Given the description of an element on the screen output the (x, y) to click on. 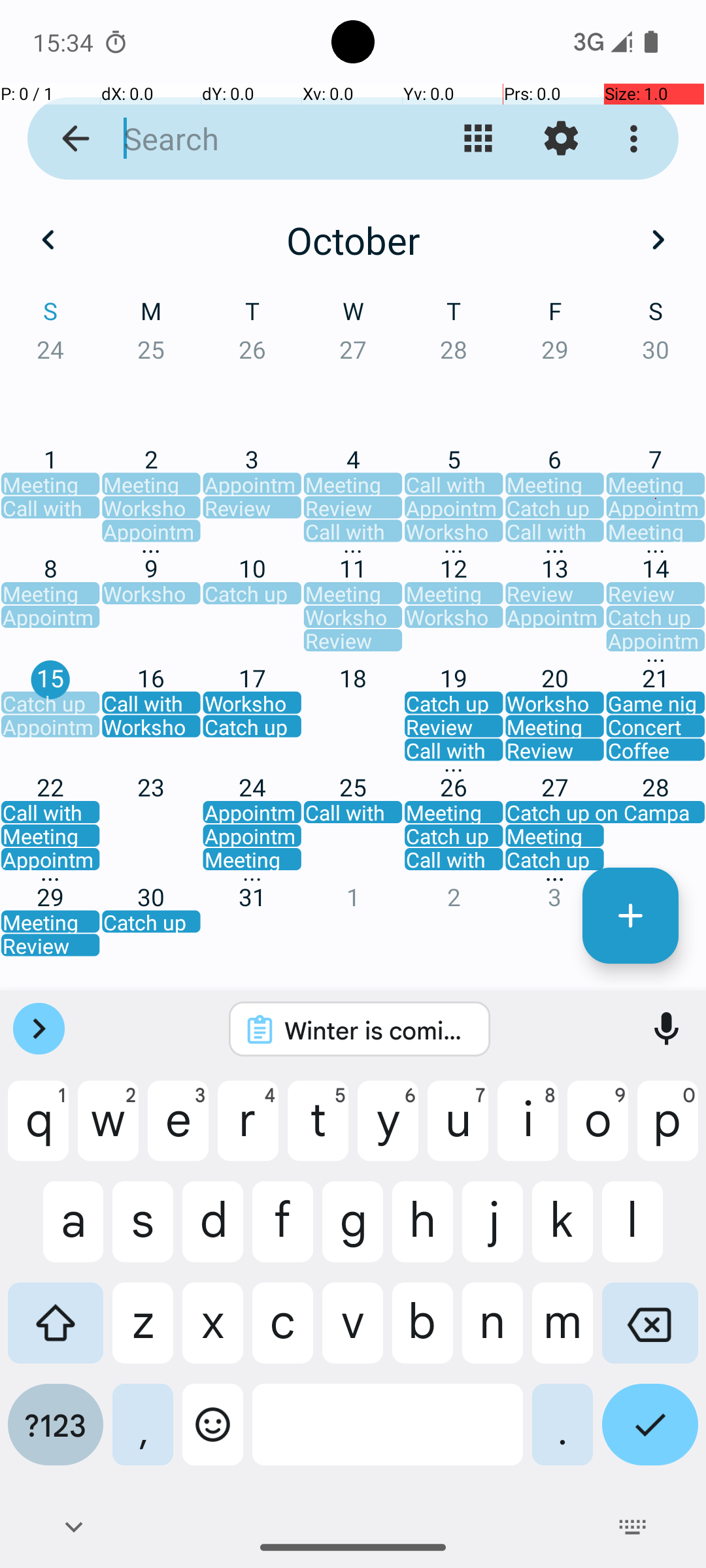
Winter is coming. Element type: android.widget.TextView (376, 1029)
